Given the description of an element on the screen output the (x, y) to click on. 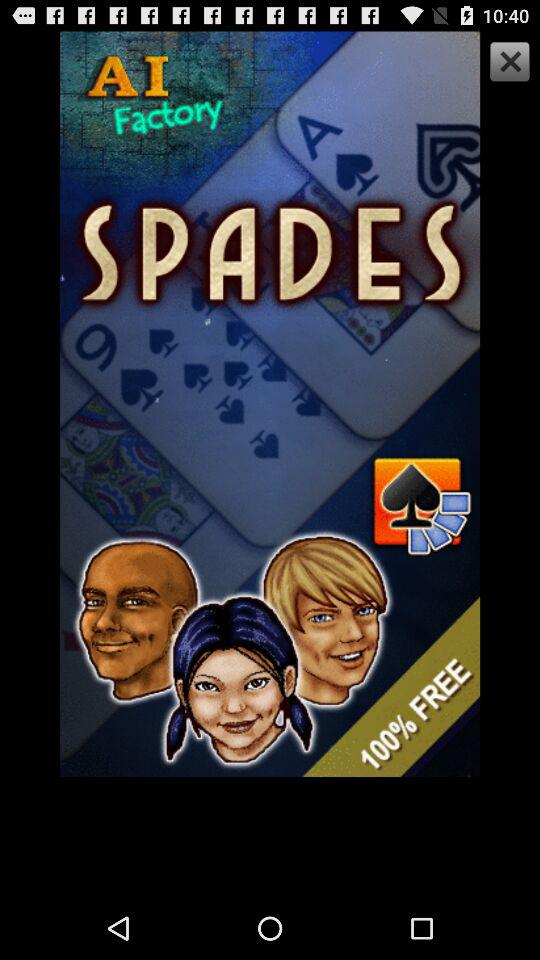
delete option (507, 64)
